Given the description of an element on the screen output the (x, y) to click on. 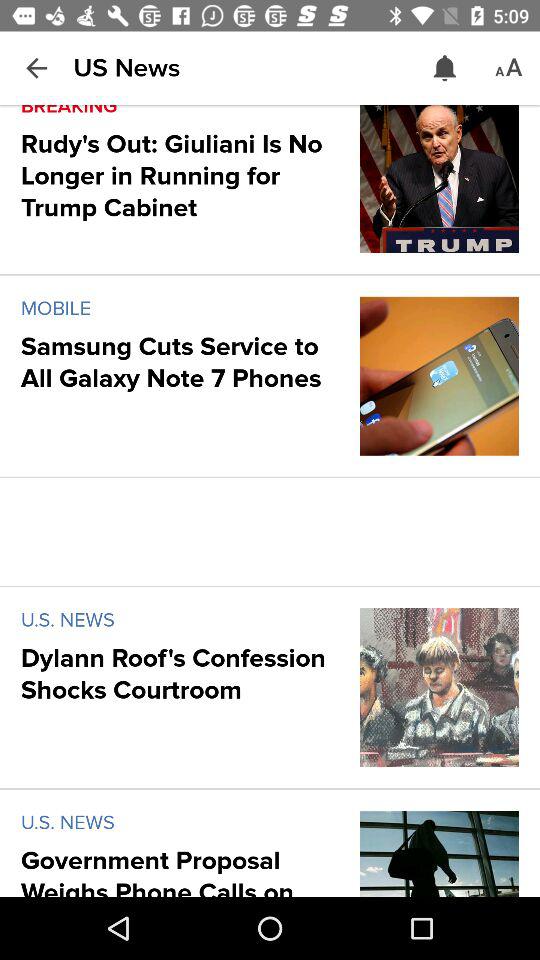
jump until the us news (126, 68)
